Given the description of an element on the screen output the (x, y) to click on. 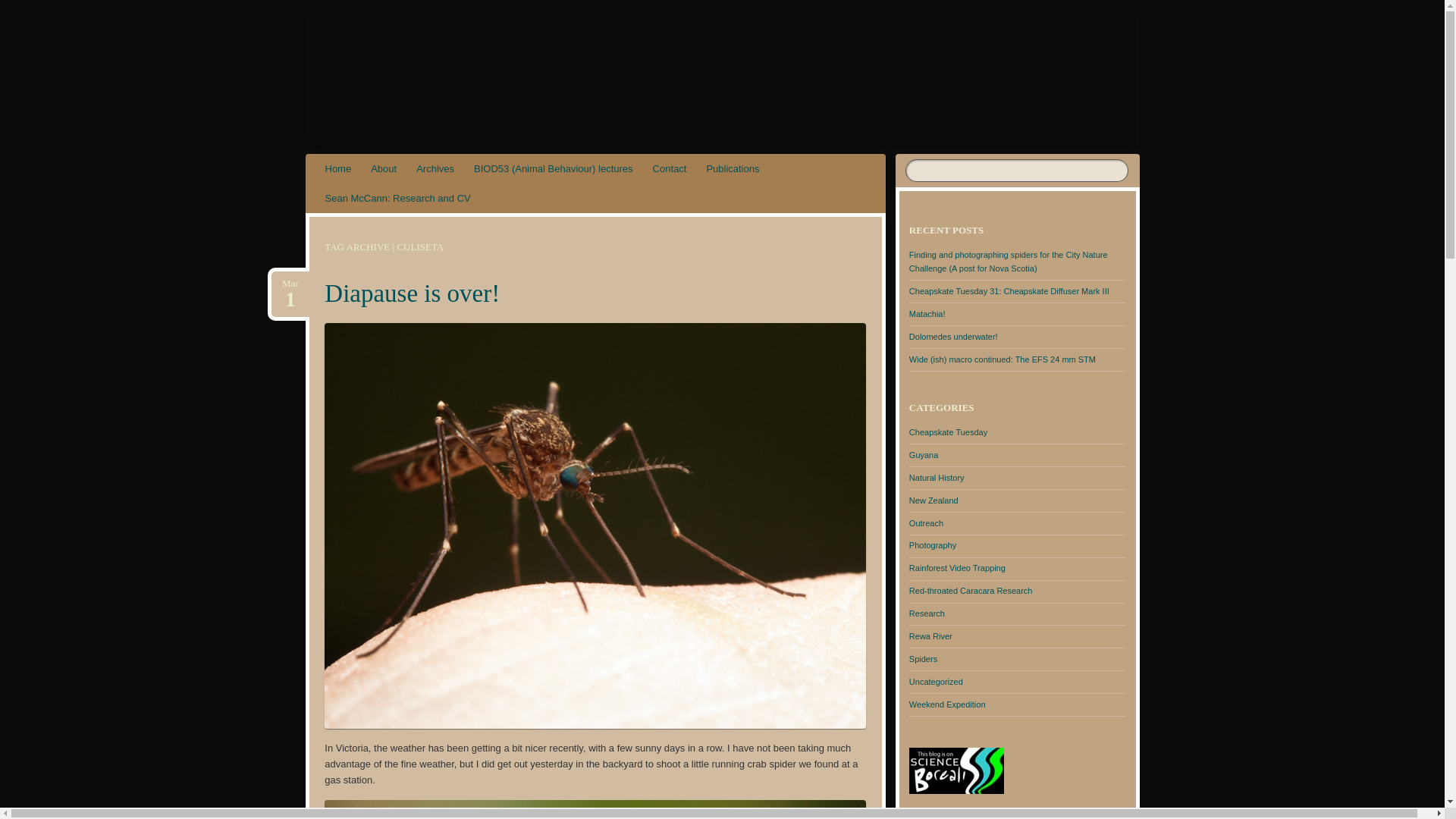
Natural History (935, 477)
Home (289, 283)
Guyana (338, 168)
About (923, 454)
Ibycter (383, 168)
Archives (403, 60)
Diapause is over! (435, 168)
New Zealand (411, 293)
Search (933, 500)
Contact (21, 7)
Research (670, 168)
Red-throated Caracara Research (926, 613)
Cheapskate Tuesday 31: Cheapskate Diffuser Mark III (970, 590)
Cheapskate Tuesday (1008, 290)
